Given the description of an element on the screen output the (x, y) to click on. 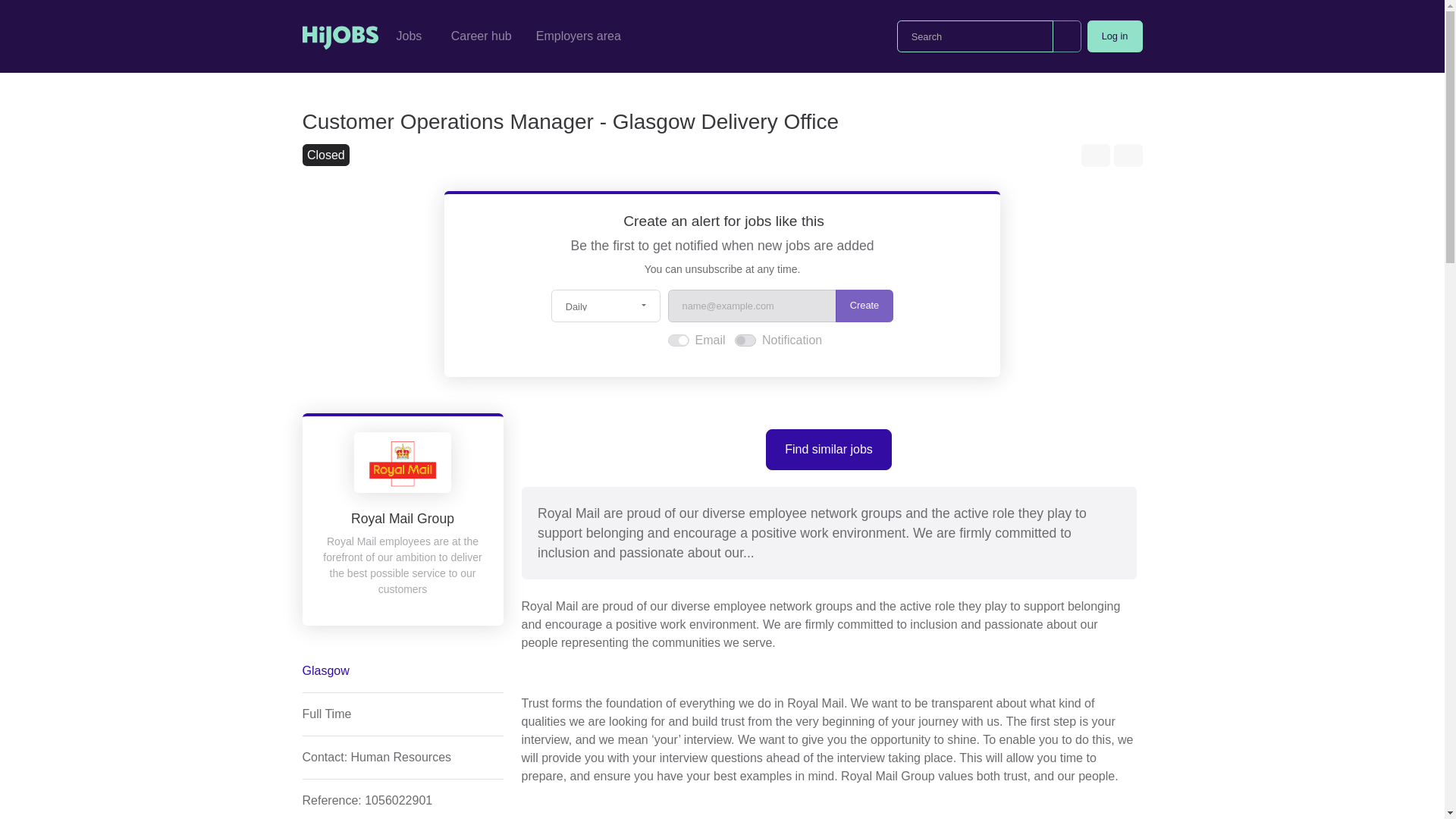
Jobs (411, 36)
